Given the description of an element on the screen output the (x, y) to click on. 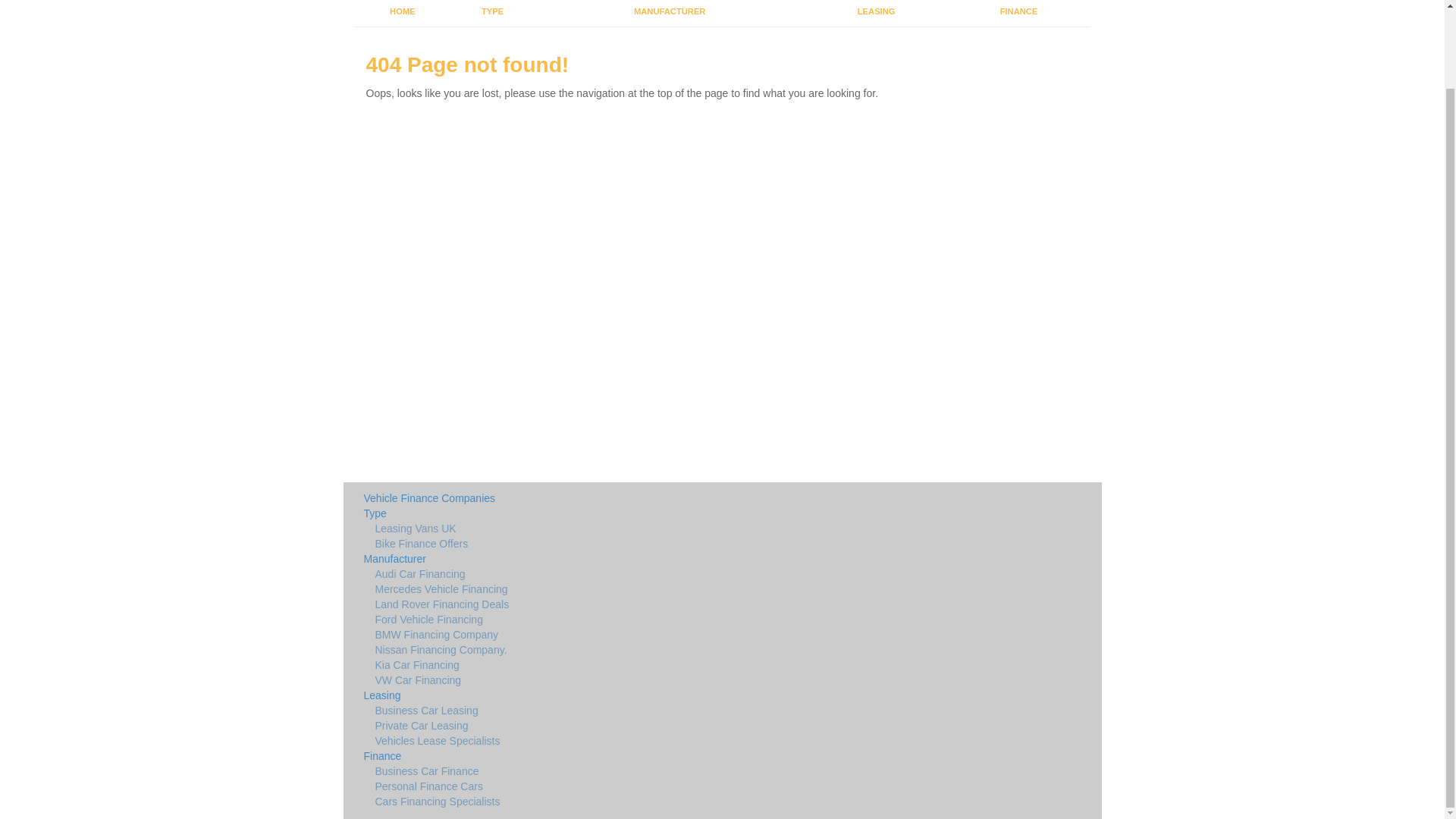
MANUFACTURER (669, 13)
Mercedes Vehicle Financing (599, 589)
HOME (403, 13)
FINANCE (1018, 13)
Nissan Financing Company. (599, 650)
Ford Vehicle Financing (599, 620)
BMW Financing Company (599, 635)
Manufacturer (599, 559)
TYPE (491, 13)
Kia Car Financing (599, 665)
VW Car Financing (599, 680)
Vehicle Finance Companies (599, 498)
Leasing Vans UK (599, 529)
Bike Finance Offers (599, 544)
Audi Car Financing (599, 574)
